Given the description of an element on the screen output the (x, y) to click on. 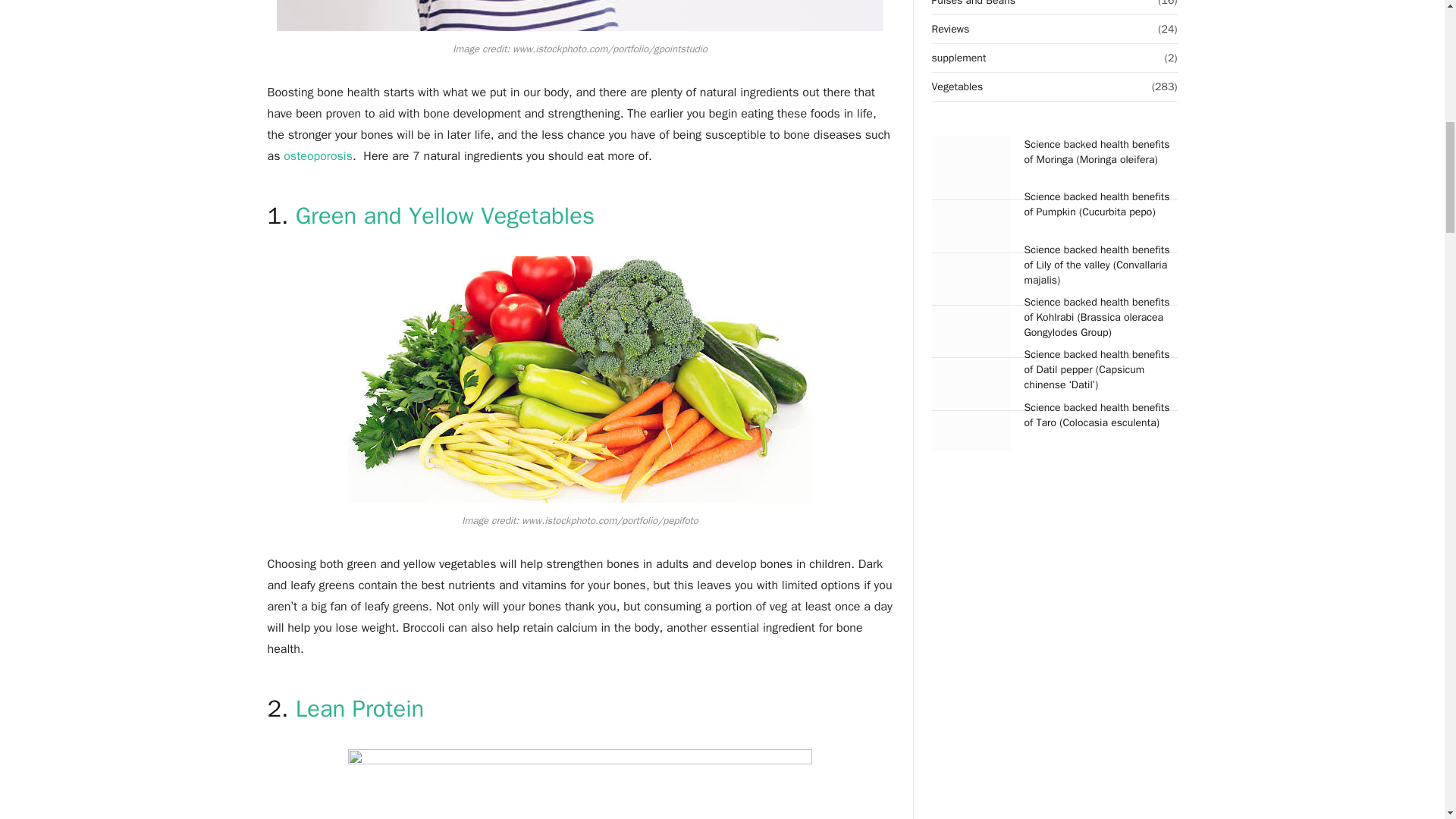
osteoporosis (317, 155)
Lean Protein (360, 708)
Green and Yellow Vegetables (444, 215)
